Given the description of an element on the screen output the (x, y) to click on. 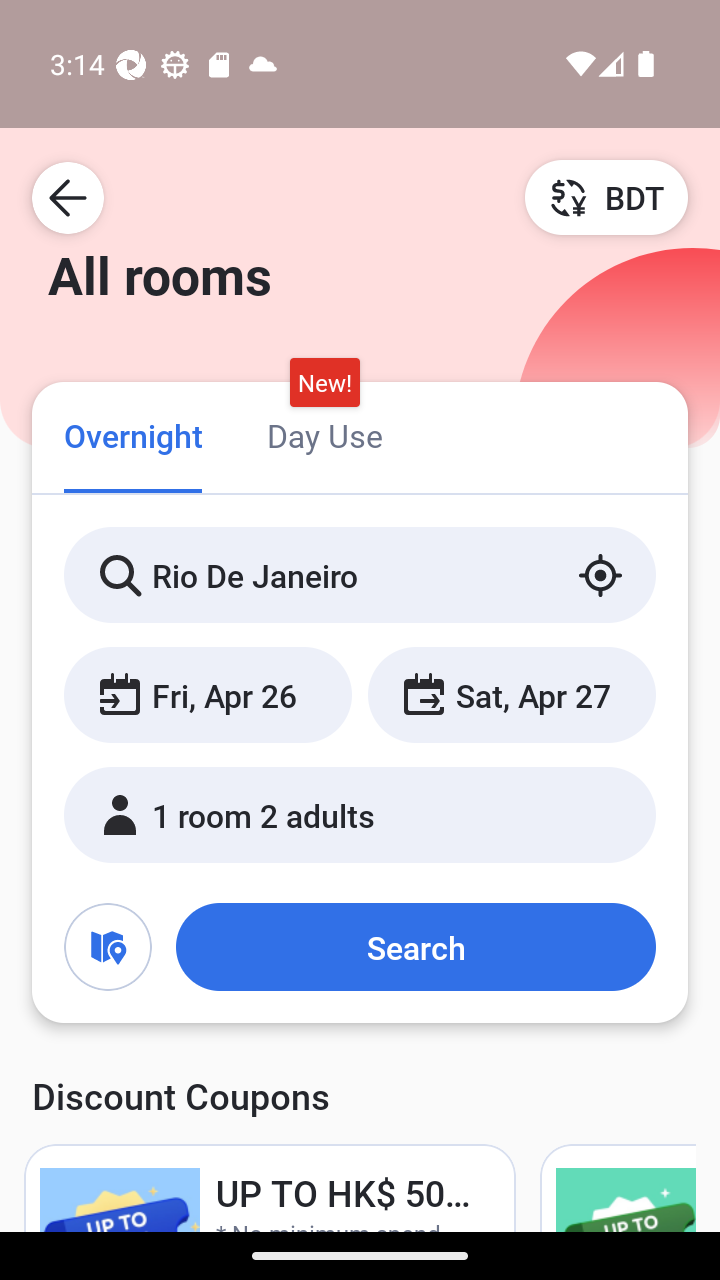
BDT (606, 197)
New! (324, 383)
Day Use (324, 434)
Rio De Janeiro (359, 575)
Fri, Apr 26 (208, 694)
Sat, Apr 27 (511, 694)
1 room 2 adults (359, 814)
Search (415, 946)
